Given the description of an element on the screen output the (x, y) to click on. 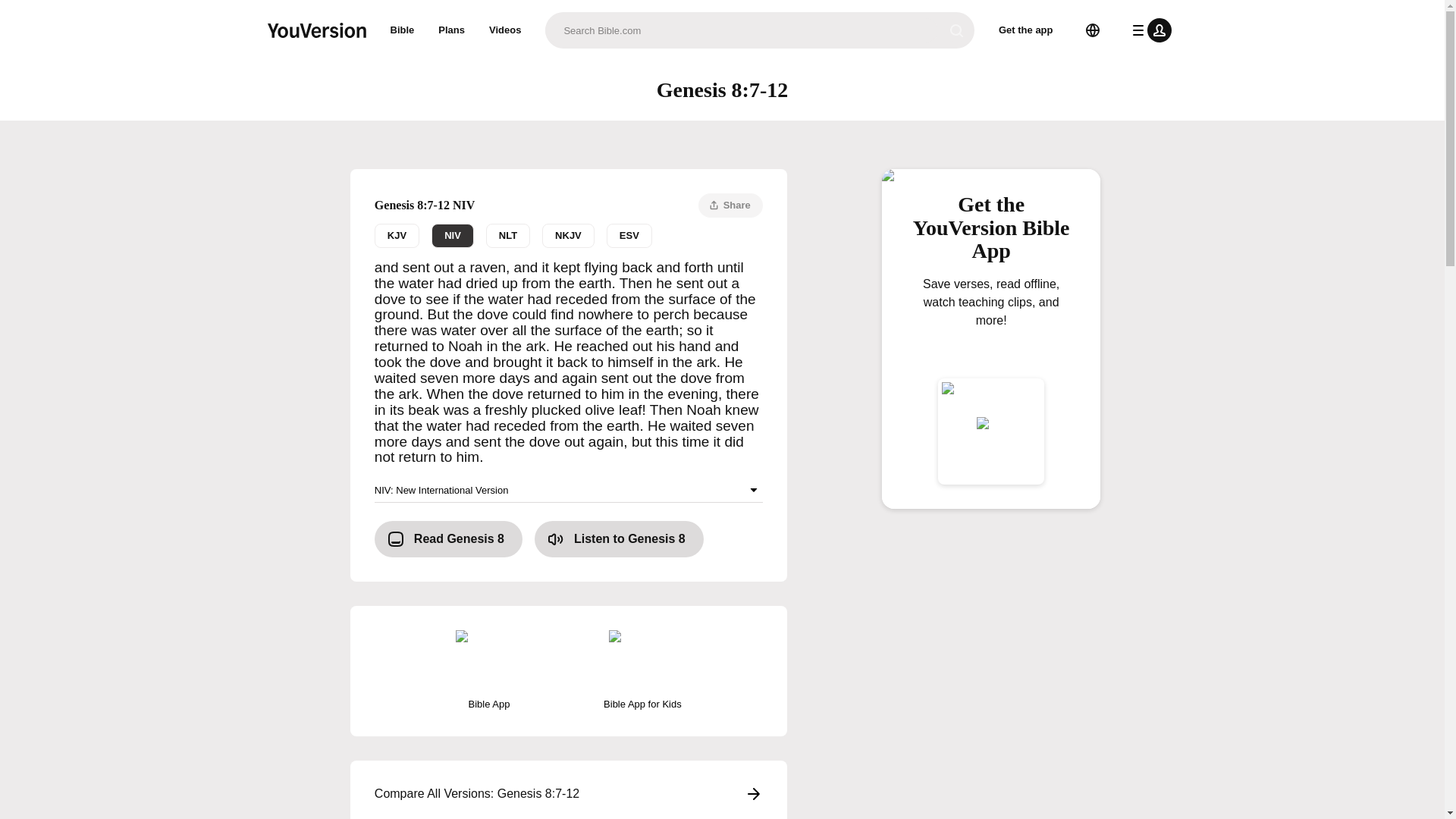
ESV (629, 235)
NLT (507, 235)
NKJV (567, 235)
Plans (451, 29)
Bible App for Kids (642, 670)
Share (568, 235)
Bible (730, 205)
Save verses, read offline, watch teaching clips, and more! (401, 29)
KJV (991, 326)
Listen to Genesis 8 (396, 235)
Videos (618, 538)
Get the app (504, 29)
NIV: New International Version (1026, 29)
